Given the description of an element on the screen output the (x, y) to click on. 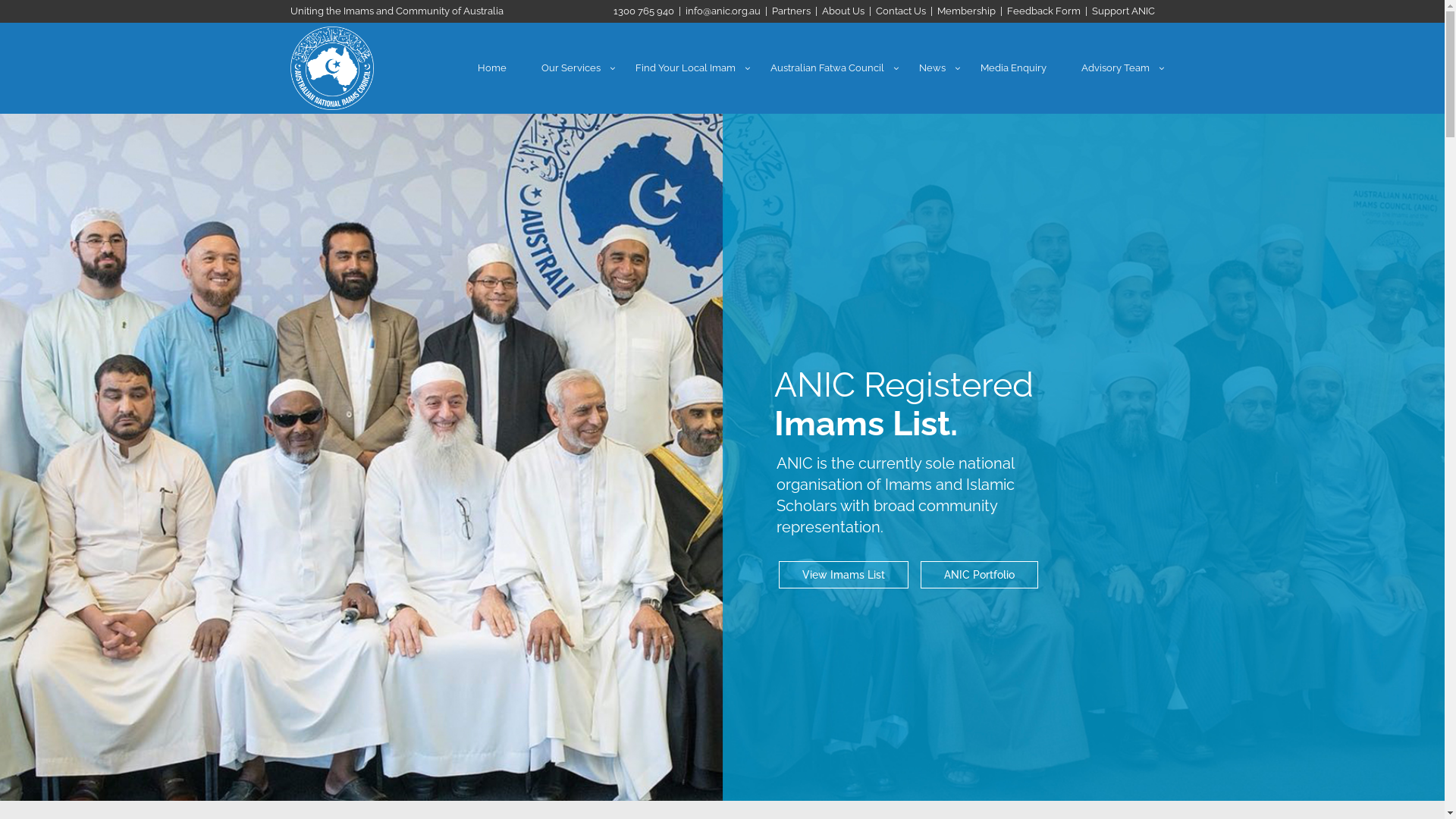
Support ANIC Element type: text (1123, 10)
Partners Element type: text (790, 10)
info@anic.org.au Element type: text (722, 10)
News Element type: text (931, 67)
Read More Element type: text (316, 574)
Feedback Form Element type: text (1043, 10)
Contact Us Element type: text (900, 10)
ANIC Portfolio Element type: text (437, 573)
About Us Element type: text (843, 10)
Advisory Team Element type: text (1114, 67)
Home Element type: text (491, 67)
Membership Element type: text (966, 10)
1300 765 940 Element type: text (642, 10)
Australian Fatwa Council Element type: text (826, 67)
Media Enquiry Element type: text (1013, 67)
Our Services Element type: text (570, 67)
Find Your Local Imam Element type: text (684, 67)
